Given the description of an element on the screen output the (x, y) to click on. 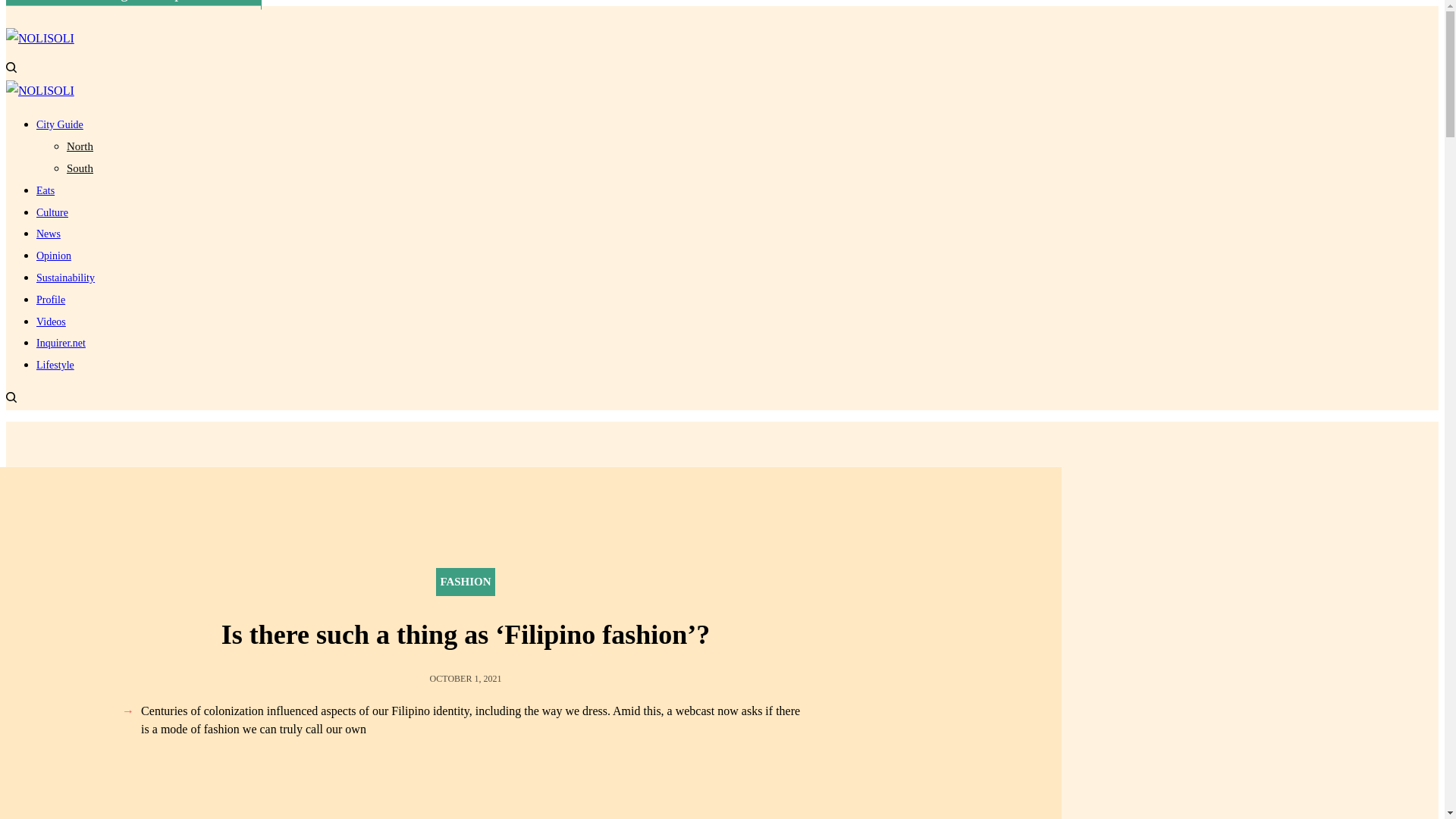
Profile (50, 299)
Sustainability (65, 277)
Videos (50, 321)
Eats (45, 190)
Inquirer.net (60, 342)
Culture (52, 212)
Opinion (53, 255)
FASHION (465, 582)
City Guide (59, 124)
NOLISOLI (39, 90)
